Given the description of an element on the screen output the (x, y) to click on. 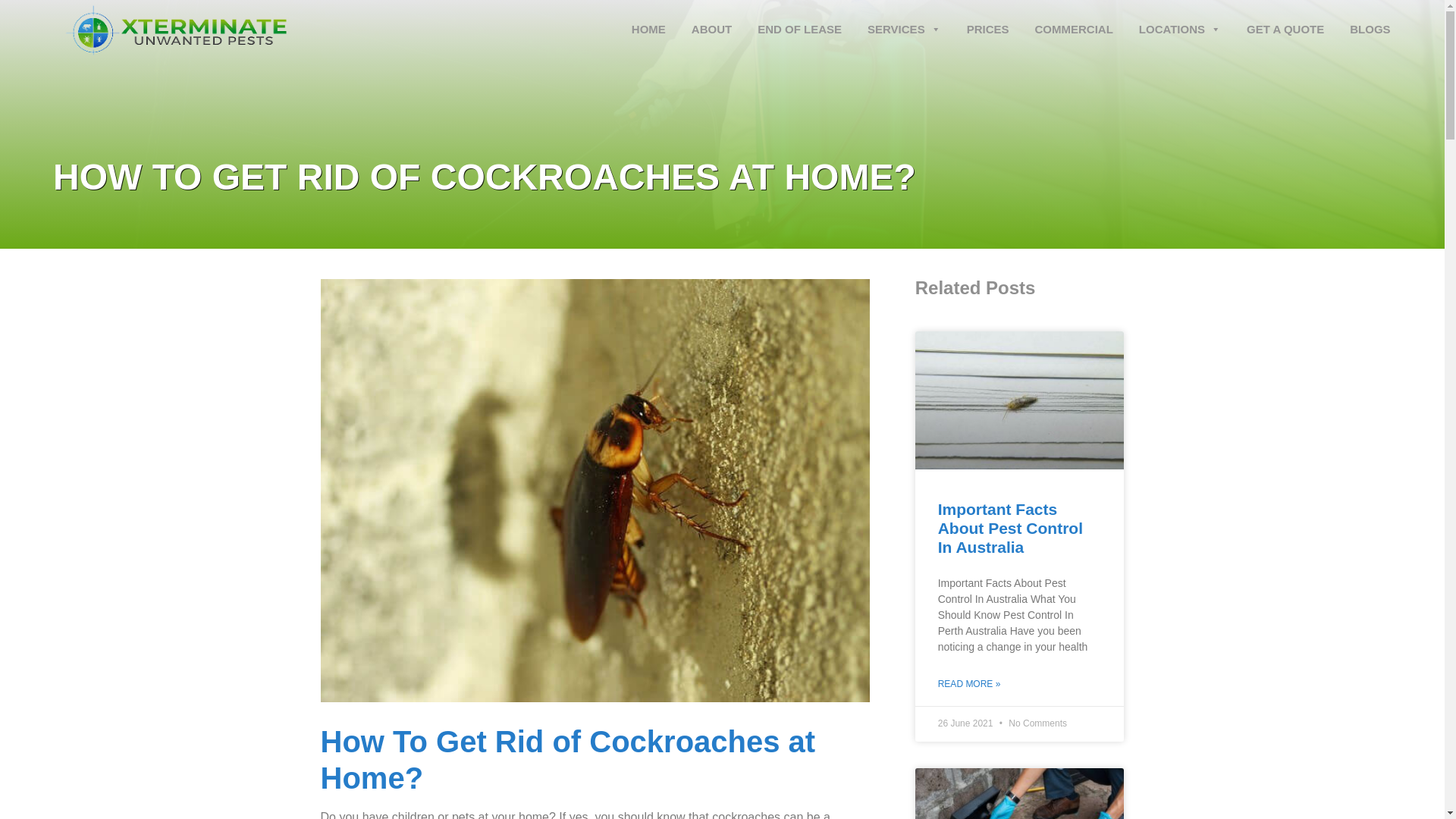
HOME (649, 21)
END OF LEASE (799, 21)
ABOUT (711, 21)
BLOGS (1370, 21)
COMMERCIAL (1073, 21)
PRICES (988, 21)
SERVICES (904, 21)
GET A QUOTE (1285, 21)
LOCATIONS (1179, 21)
